Given the description of an element on the screen output the (x, y) to click on. 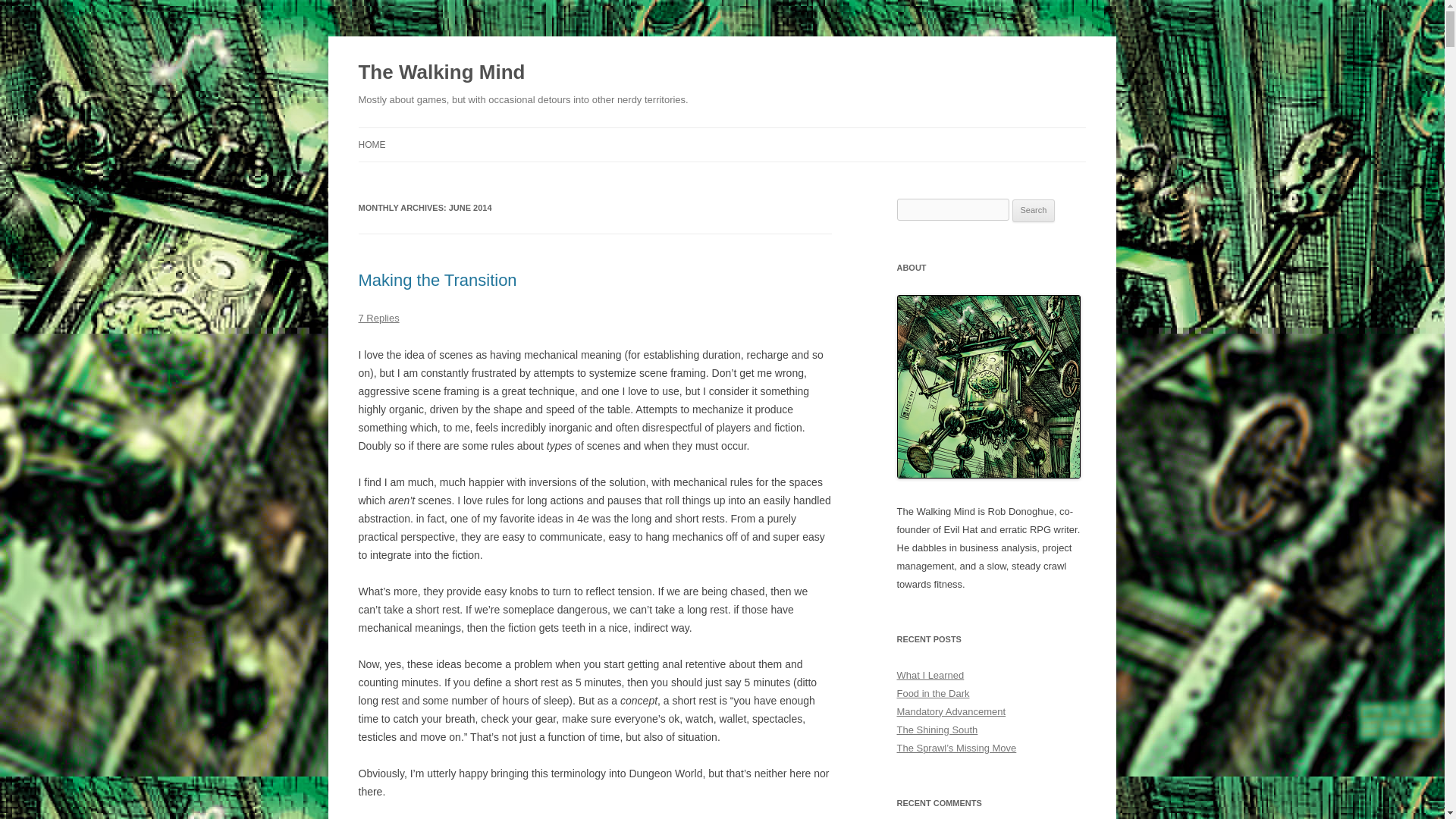
Making the Transition (437, 280)
Search (1033, 210)
The Walking Mind (441, 72)
7 Replies (378, 317)
